Given the description of an element on the screen output the (x, y) to click on. 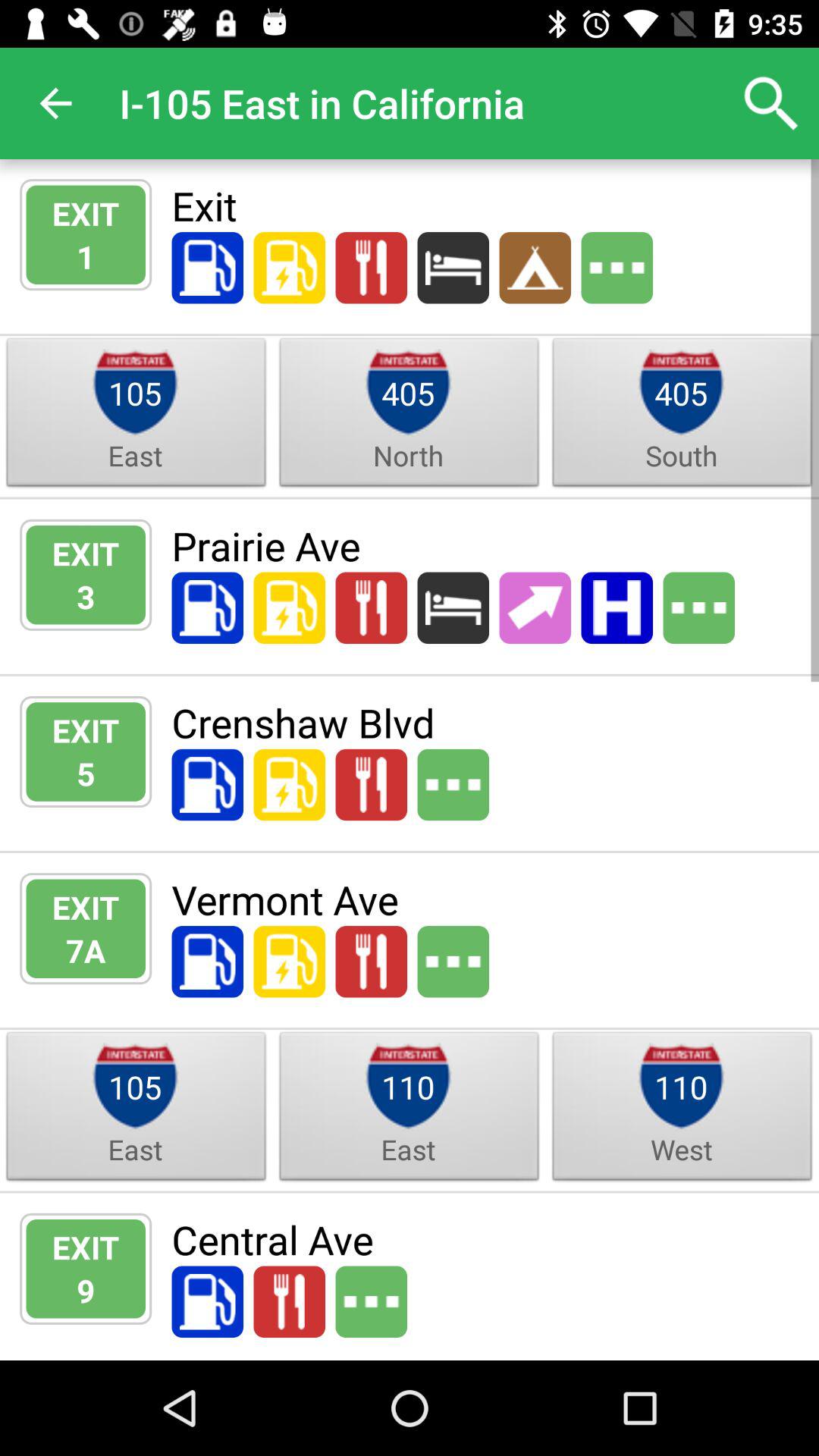
turn off north (408, 455)
